Given the description of an element on the screen output the (x, y) to click on. 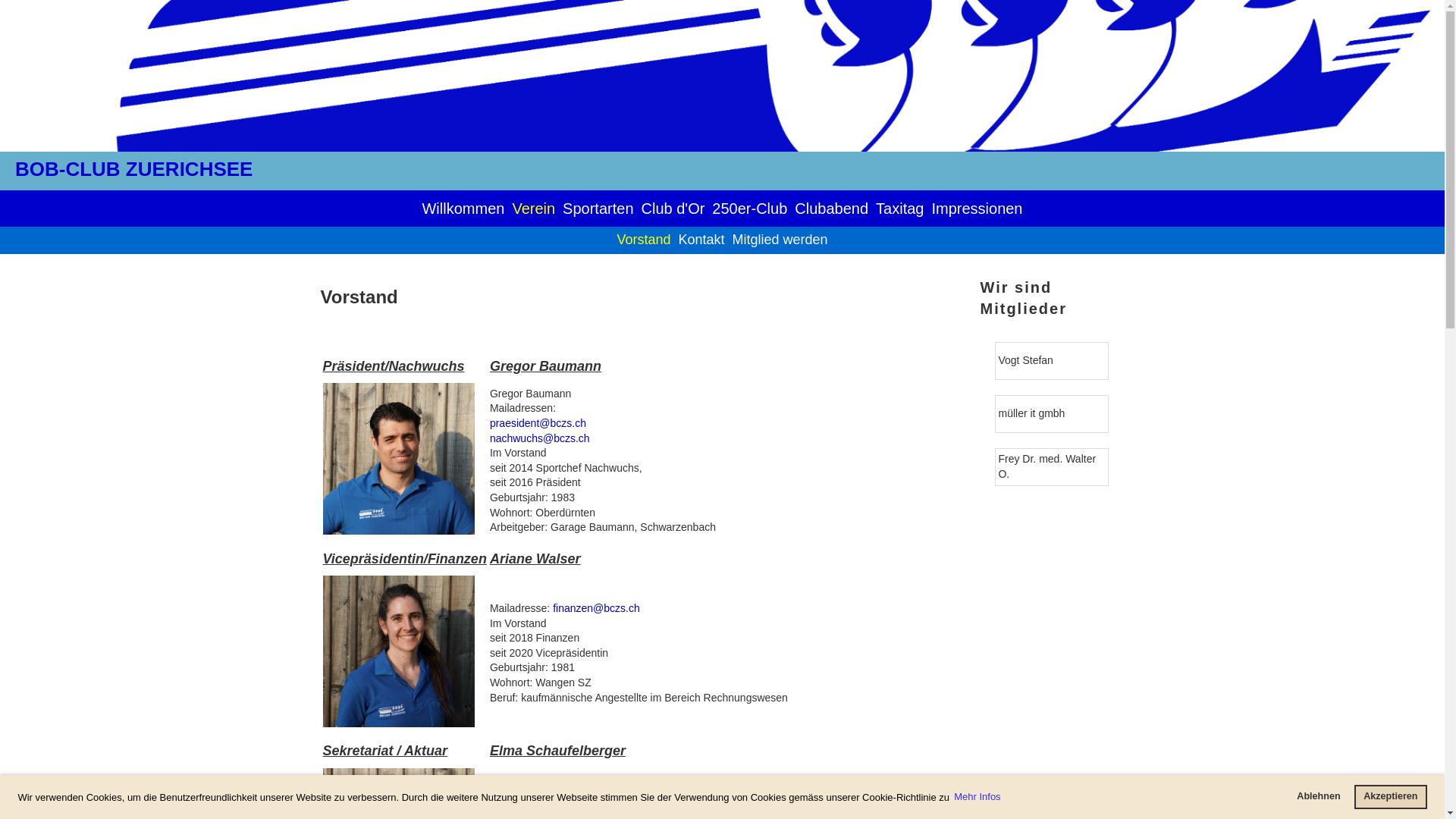
Vorstand Element type: text (643, 239)
Taxitag Element type: text (899, 208)
BOB-CLUB ZUERICHSEE Element type: text (133, 168)
sekretariat@bczs.ch Element type: text (600, 793)
finanzen@bczs.ch Element type: text (596, 608)
Willkommen Element type: text (462, 208)
Clubabend Element type: text (831, 208)
Mehr Infos Element type: text (977, 796)
Kontakt Element type: text (701, 239)
250er-Club Element type: text (749, 208)
praesident@bczs.ch Element type: text (537, 423)
Verein Element type: text (533, 208)
Impressionen Element type: text (976, 208)
Mitglied werden Element type: text (779, 239)
Rauner AG Element type: text (1023, 466)
nachwuchs@bczs.ch Element type: text (539, 438)
Sportarten Element type: text (597, 208)
Akzeptieren Element type: text (1390, 796)
Club d'Or Element type: text (672, 208)
Ablehnen Element type: text (1318, 796)
